Given the description of an element on the screen output the (x, y) to click on. 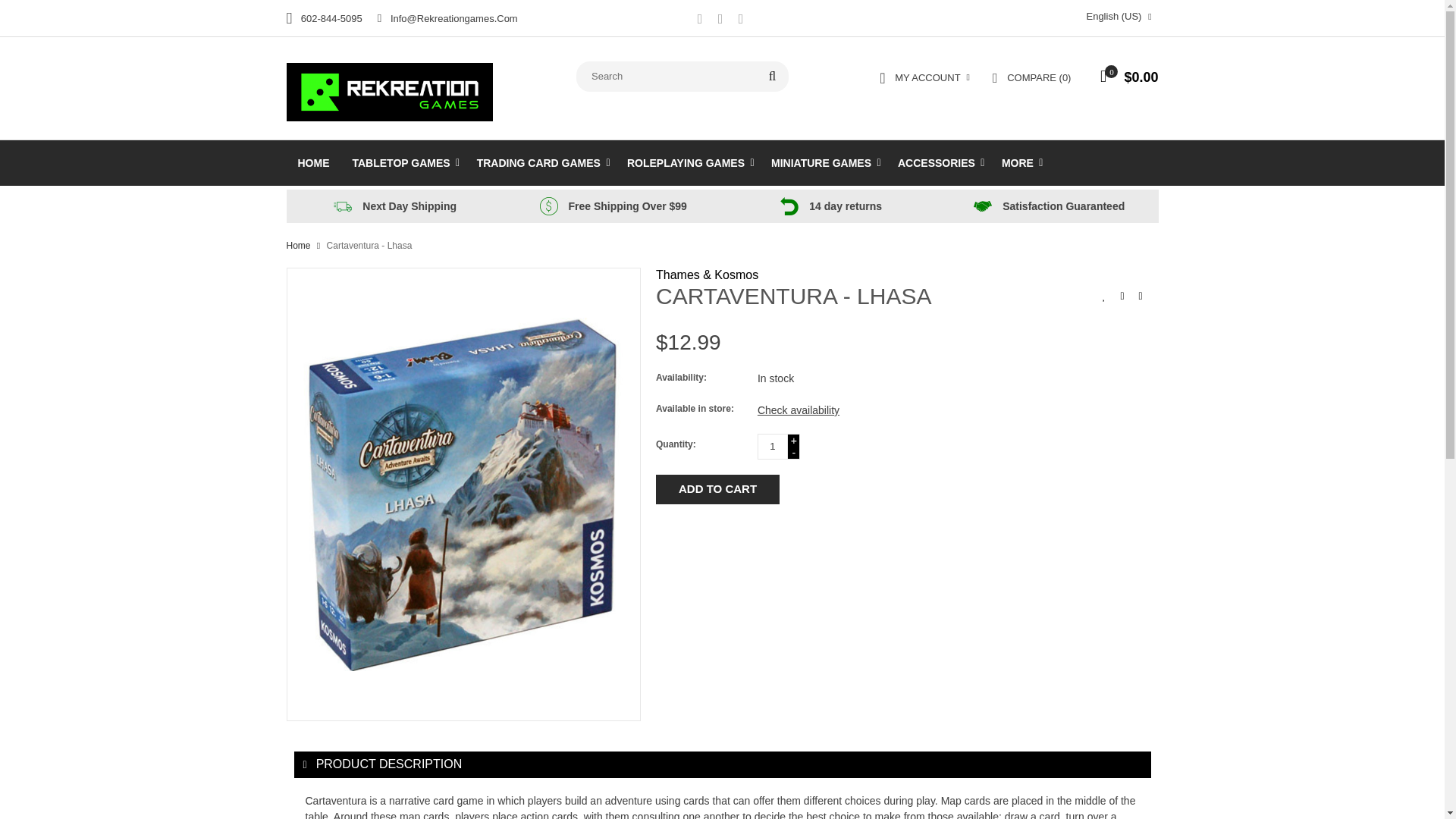
Facebook Rekreation Games (699, 20)
Tabletop Games (402, 162)
MY ACCOUNT (924, 77)
HOME (313, 162)
Cart (1125, 78)
Rekreation Games (389, 91)
Search (772, 76)
TRADING CARD GAMES (540, 162)
Email (447, 17)
TABLETOP GAMES (402, 162)
1 (772, 446)
602-844-5095 (324, 17)
Home (313, 162)
Compare (1031, 77)
Instagram Rekreation Games (740, 20)
